Given the description of an element on the screen output the (x, y) to click on. 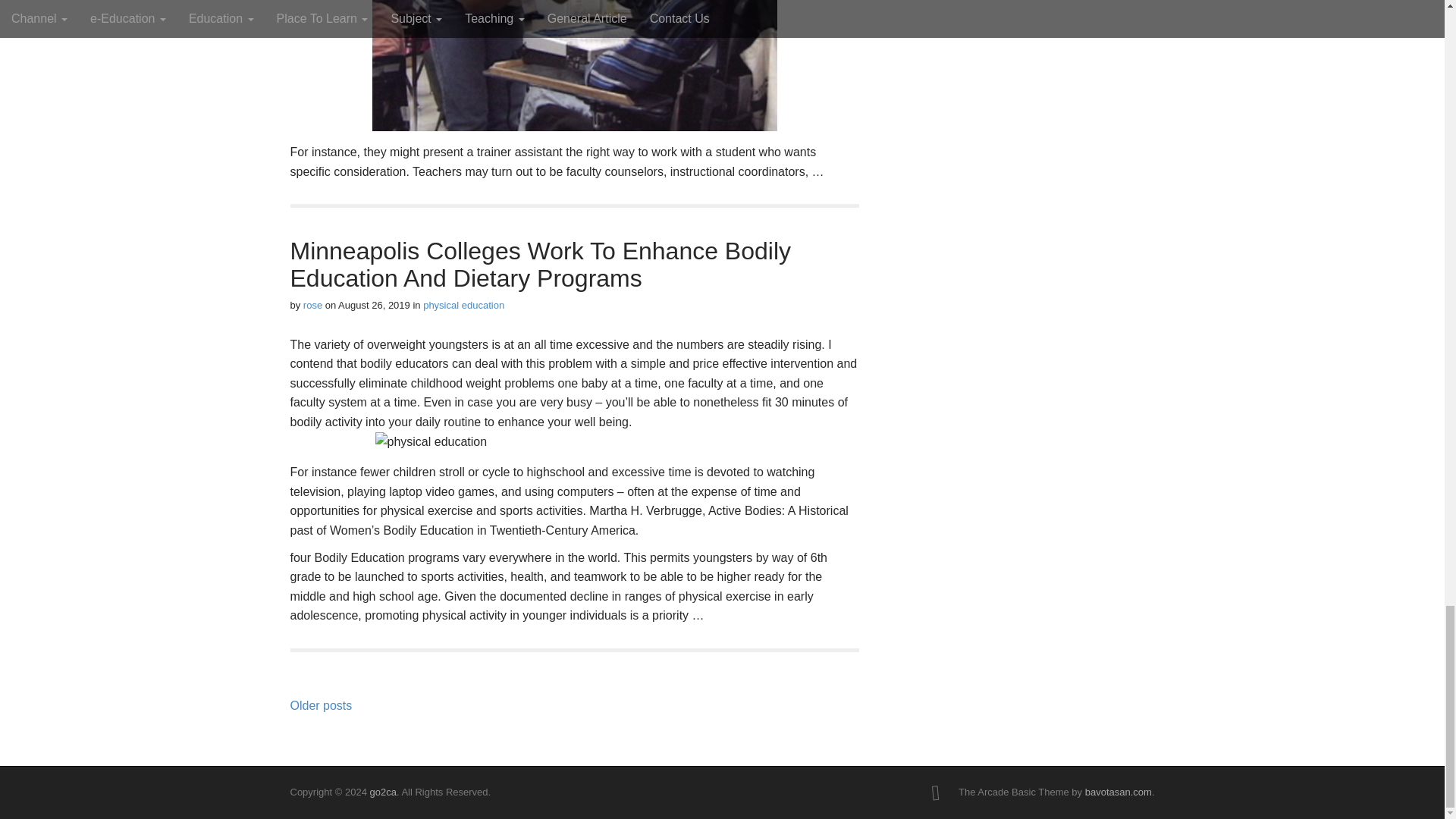
Posts by rose (311, 305)
